Given the description of an element on the screen output the (x, y) to click on. 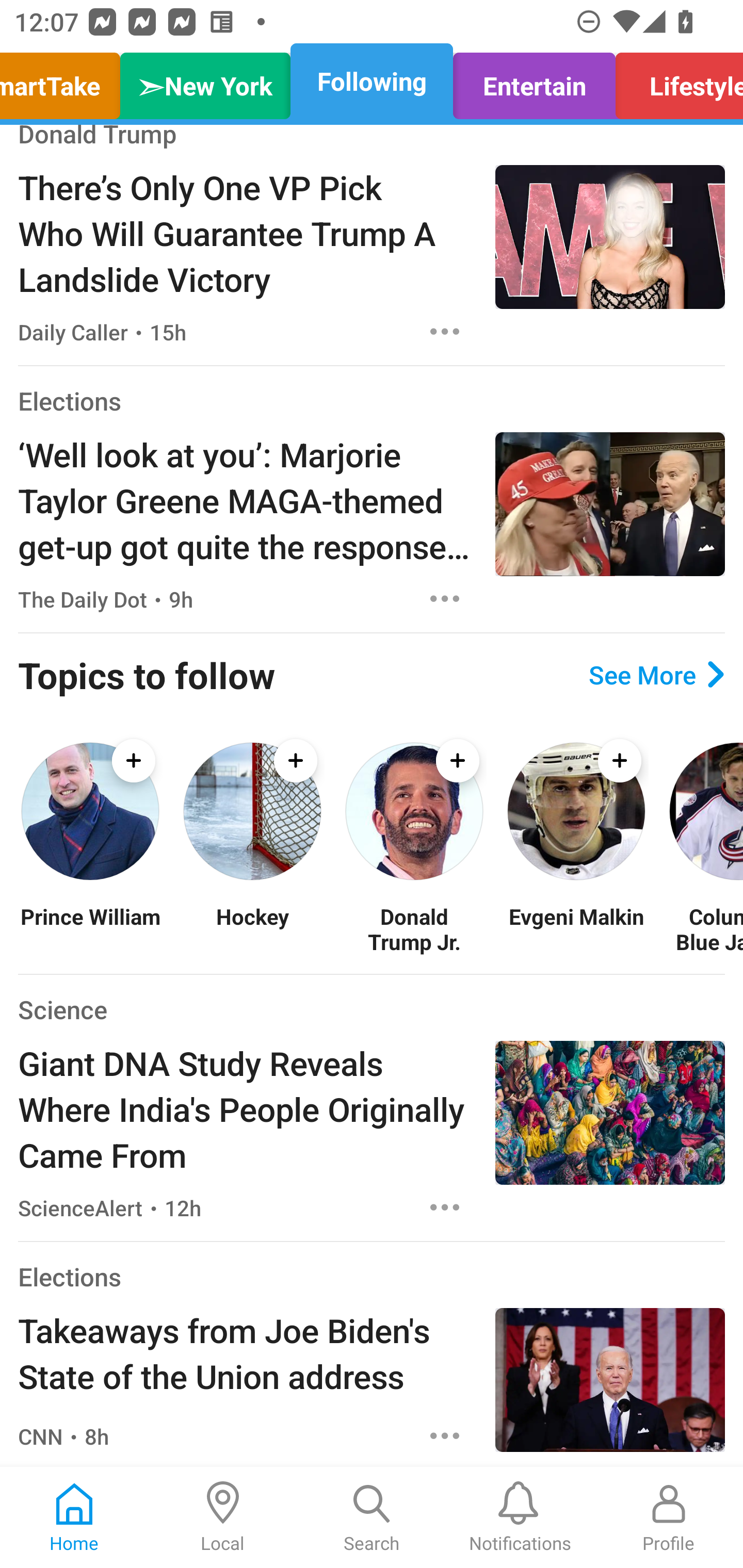
SmartTake (65, 81)
➣New York (205, 81)
Following (371, 81)
Entertain (534, 81)
Donald Trump (97, 137)
Options (444, 331)
Elections (69, 400)
Options (444, 598)
See More (656, 673)
Prince William (89, 928)
Hockey (251, 928)
Donald Trump Jr. (413, 928)
Evgeni Malkin (575, 928)
Science (61, 1009)
Options (444, 1207)
Elections (69, 1276)
Options (444, 1436)
Local (222, 1517)
Search (371, 1517)
Notifications (519, 1517)
Profile (668, 1517)
